Given the description of an element on the screen output the (x, y) to click on. 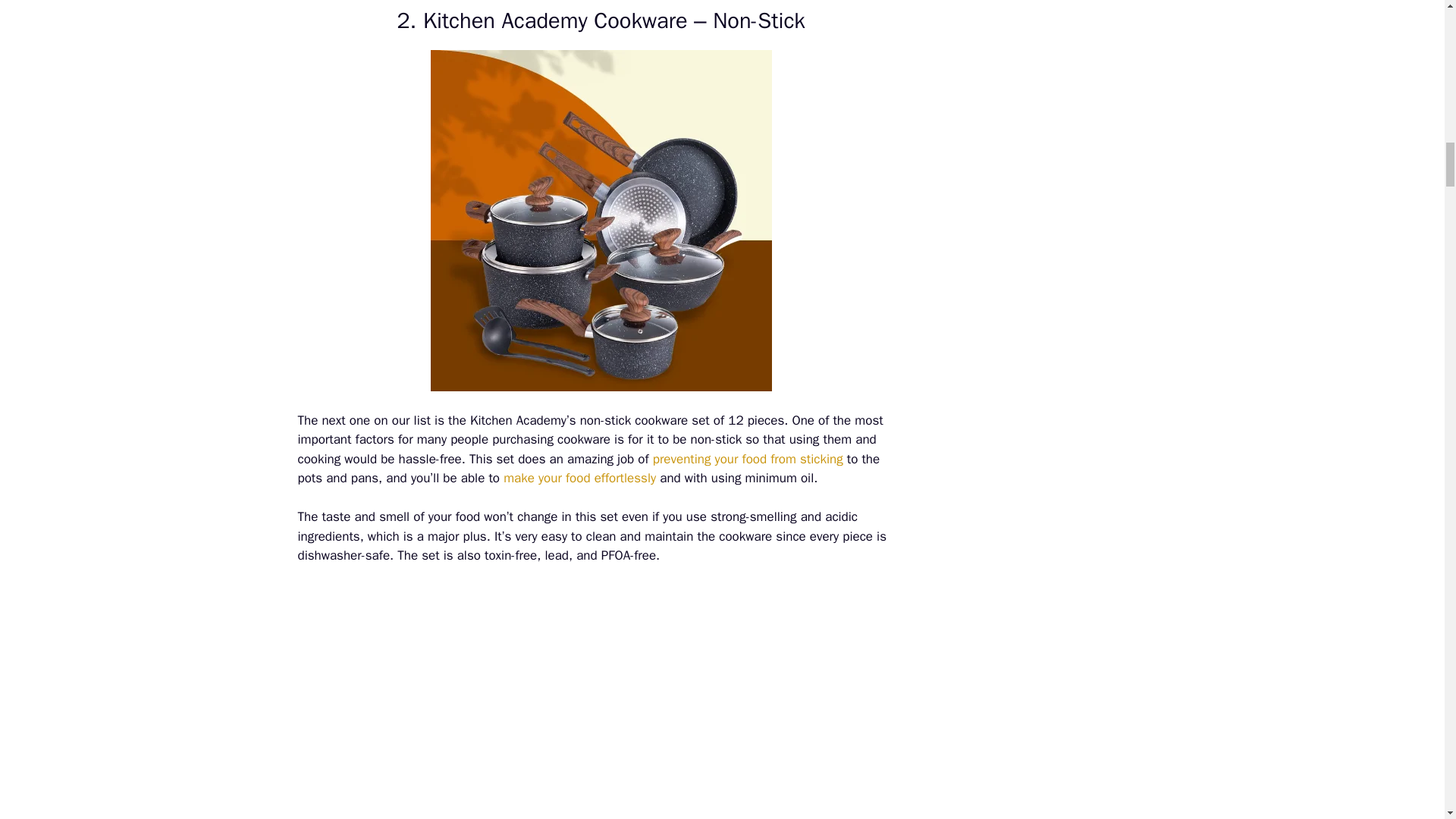
preventing your food from sticking (747, 458)
make your food effortlessly (579, 478)
